Given the description of an element on the screen output the (x, y) to click on. 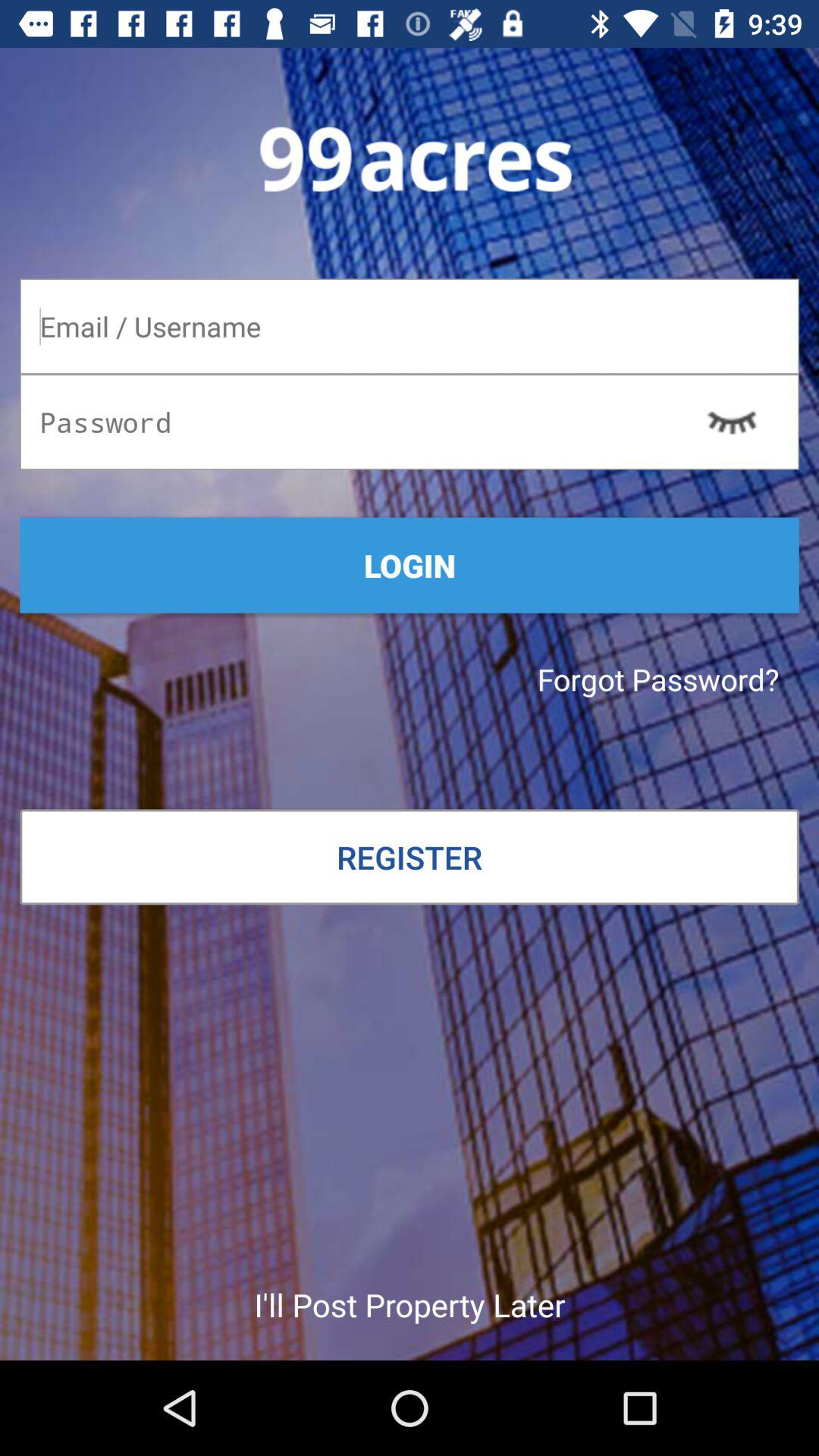
address page (409, 326)
